Given the description of an element on the screen output the (x, y) to click on. 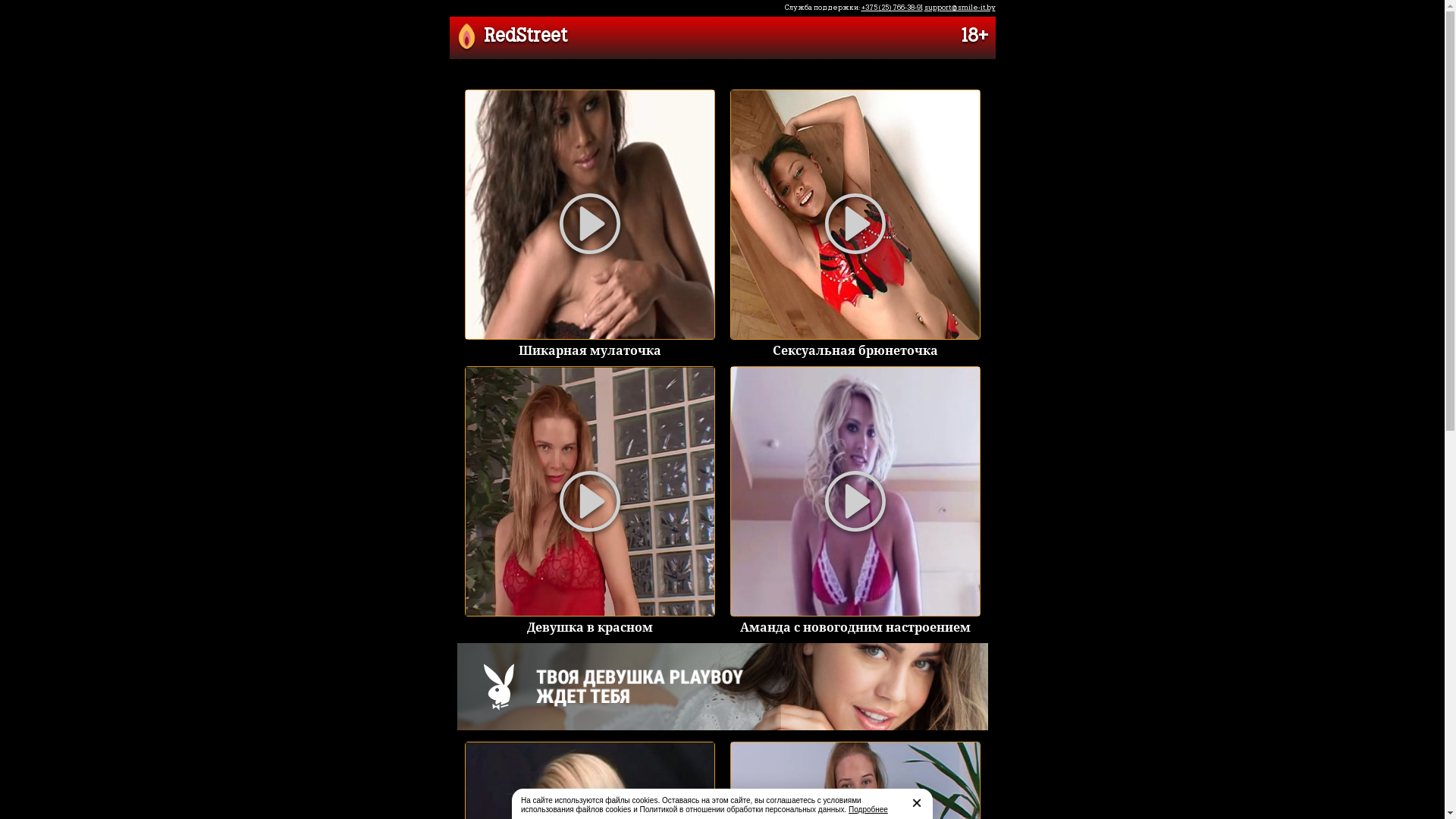
support@smile-it.by Element type: text (958, 7)
+375 (25) 766-38-91 Element type: text (891, 7)
RedStreet Element type: text (511, 37)
